Given the description of an element on the screen output the (x, y) to click on. 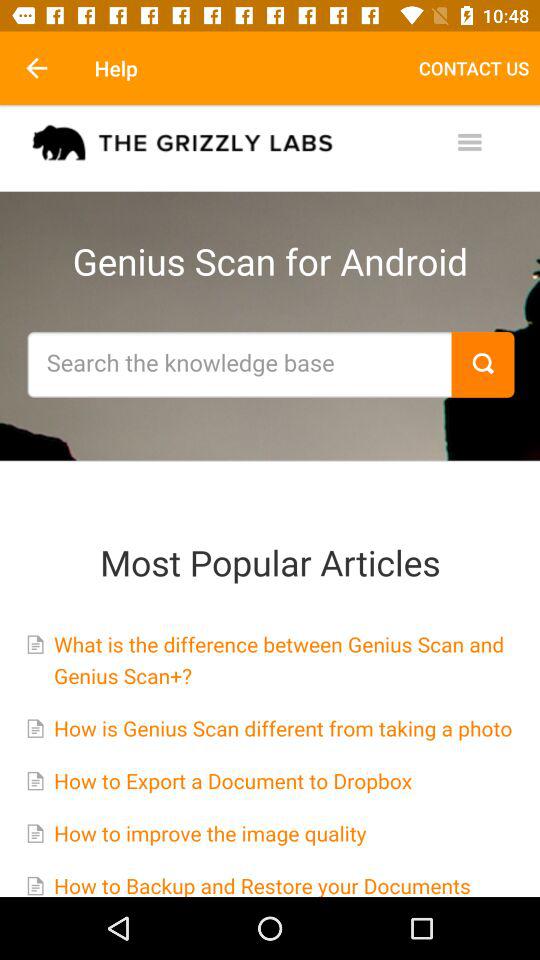
press the contact us item (474, 67)
